Given the description of an element on the screen output the (x, y) to click on. 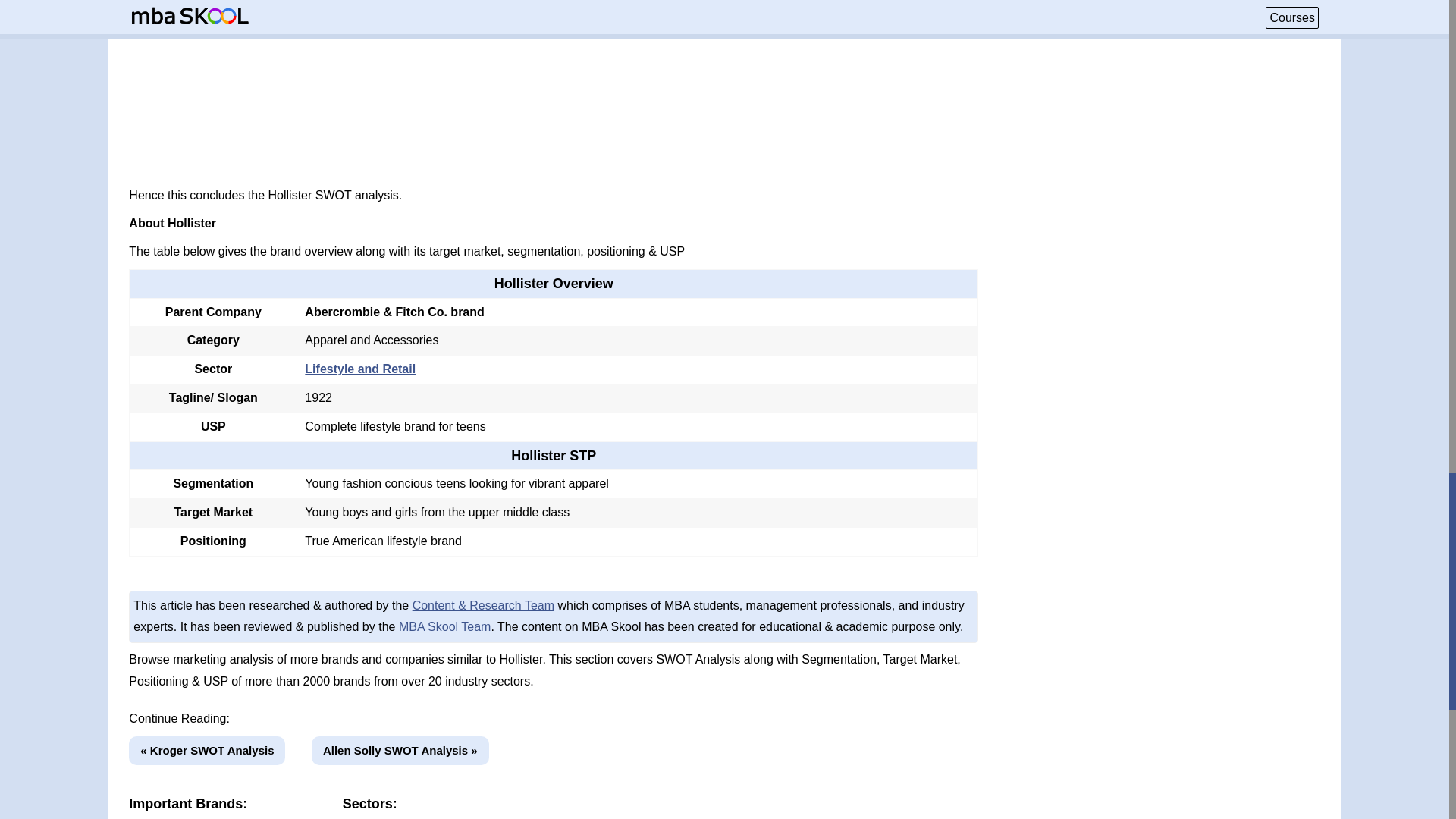
Kroger SWOT Analysis (207, 750)
MBA Skool Team (445, 626)
Allen Solly SWOT Analysis (400, 750)
Lifestyle and Retail (359, 368)
Advertisement (553, 83)
